Given the description of an element on the screen output the (x, y) to click on. 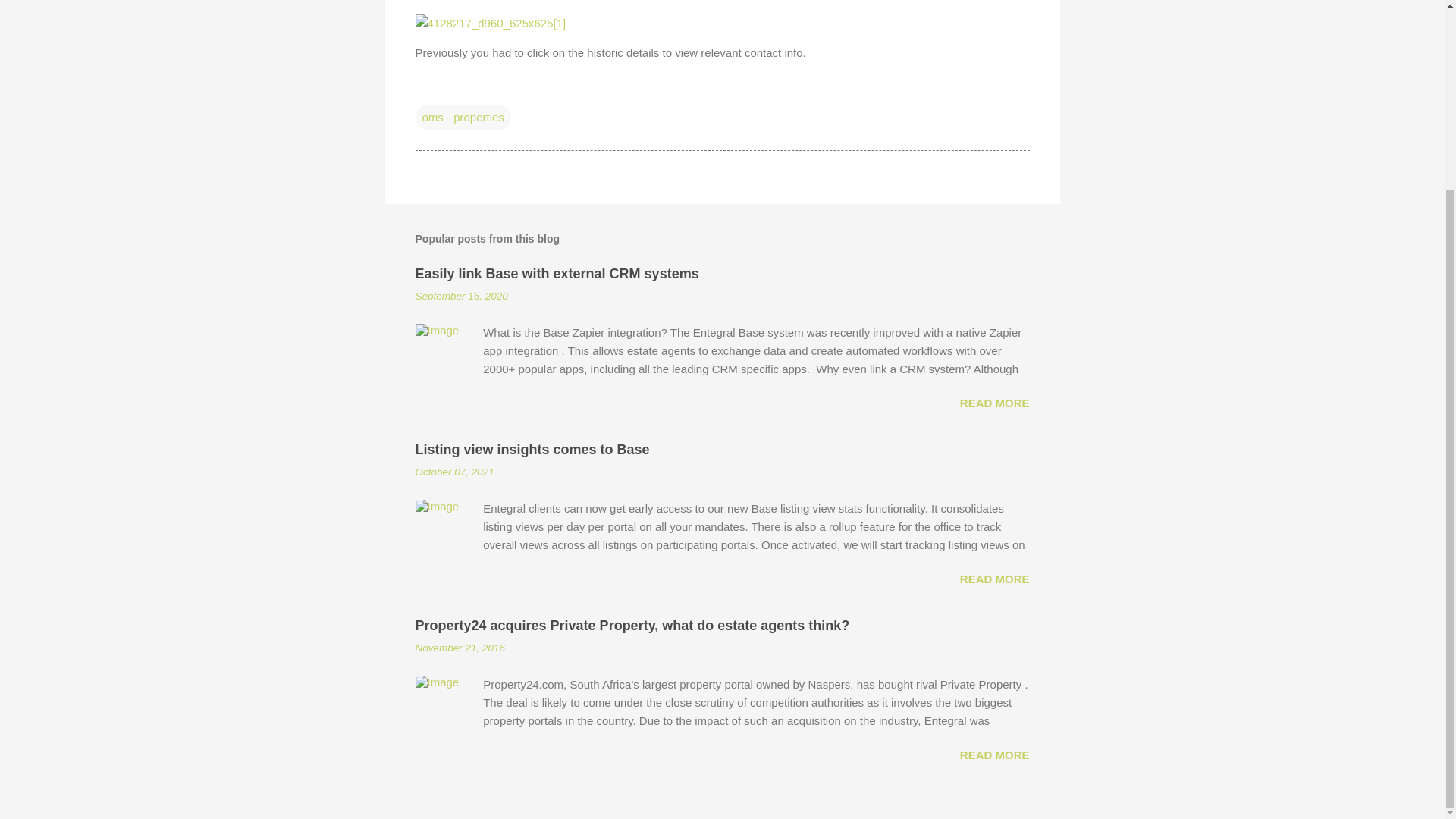
oms - properties (462, 117)
November 21, 2016 (459, 647)
October 07, 2021 (454, 471)
Listing view insights comes to Base (531, 449)
READ MORE (994, 402)
READ MORE (994, 578)
Easily link Base with external CRM systems (556, 273)
permanent link (461, 296)
September 15, 2020 (461, 296)
